Given the description of an element on the screen output the (x, y) to click on. 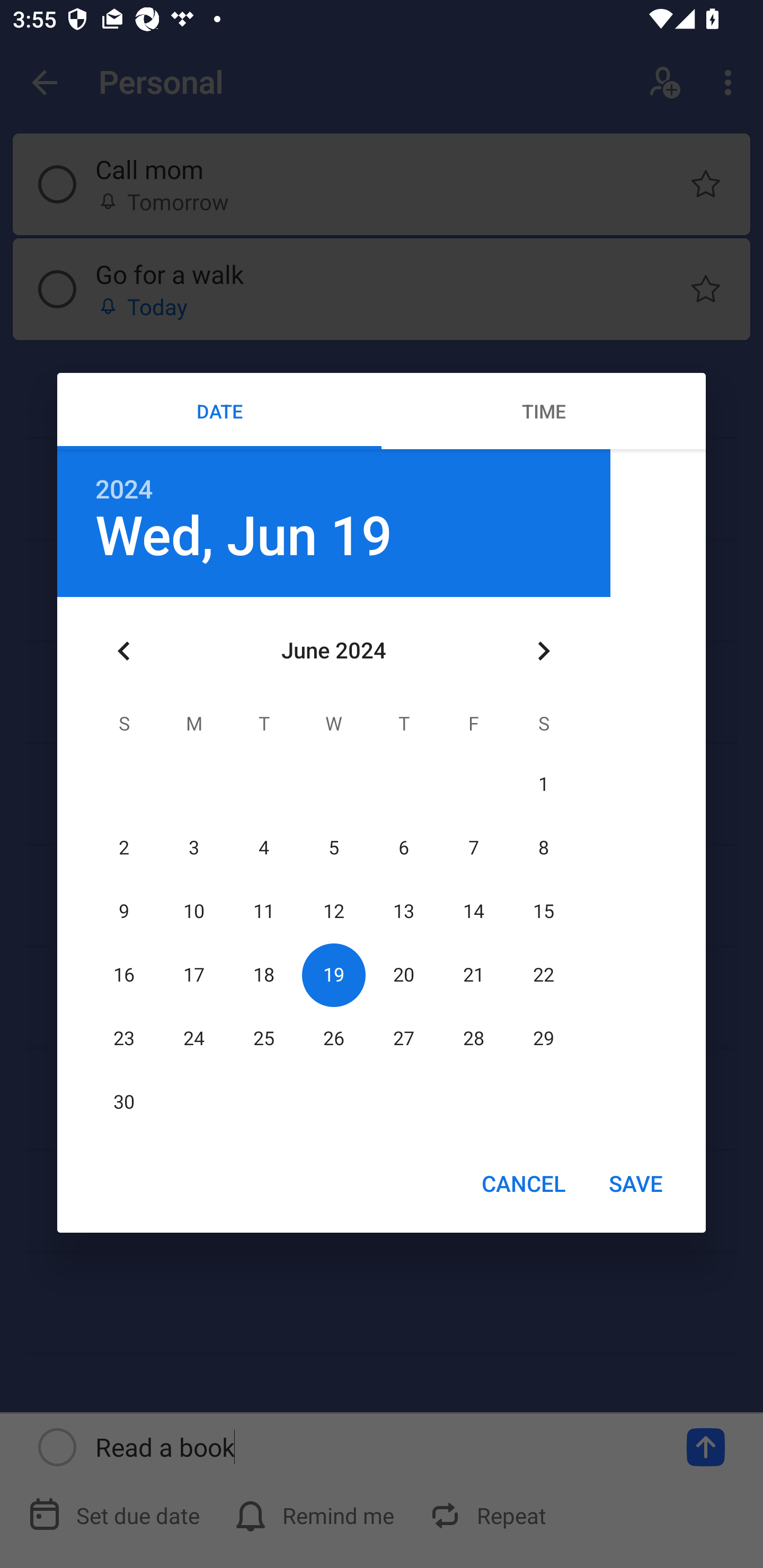
Time TIME (543, 410)
